Given the description of an element on the screen output the (x, y) to click on. 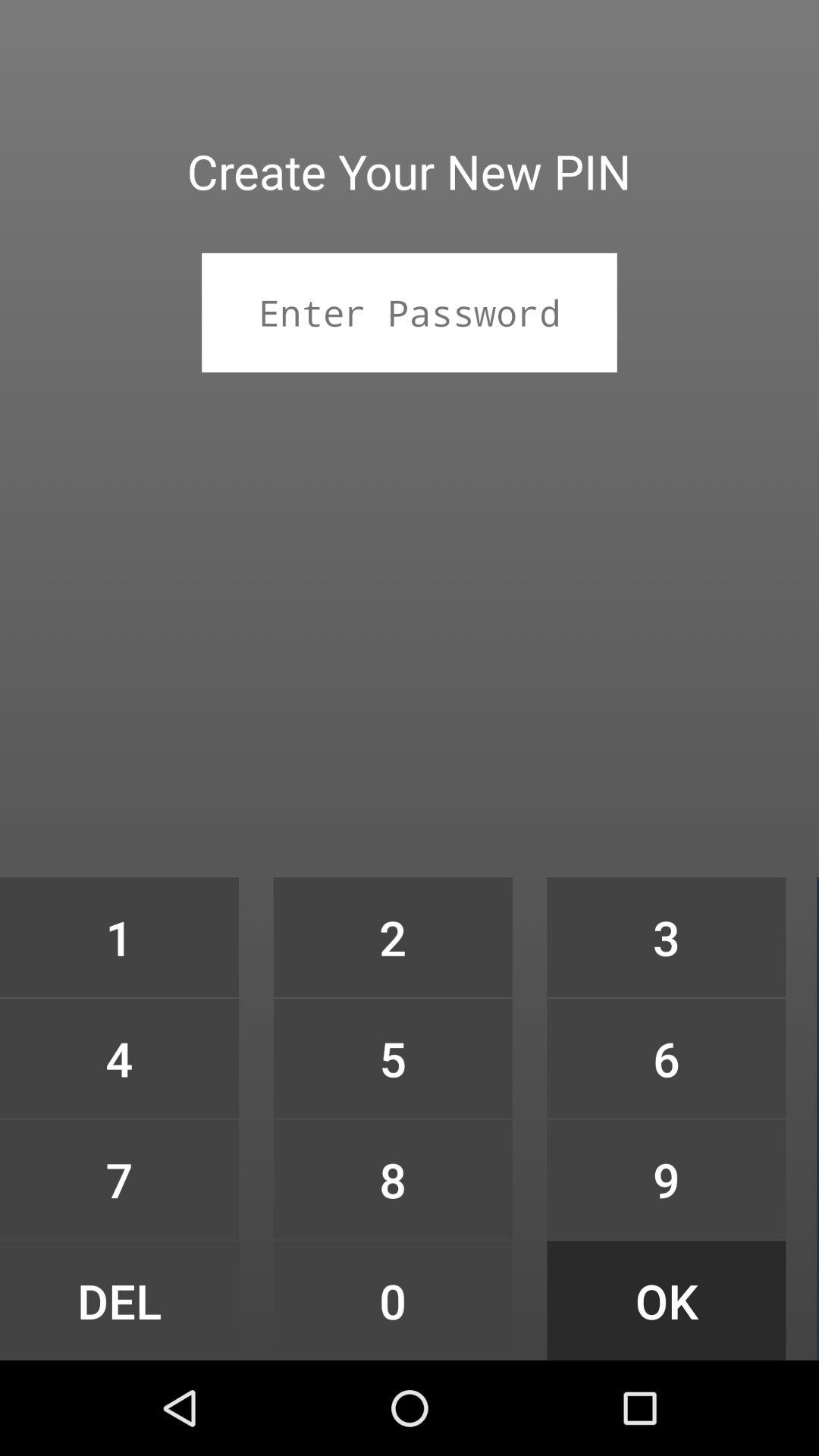
turn off item to the right of 2 item (666, 1058)
